Given the description of an element on the screen output the (x, y) to click on. 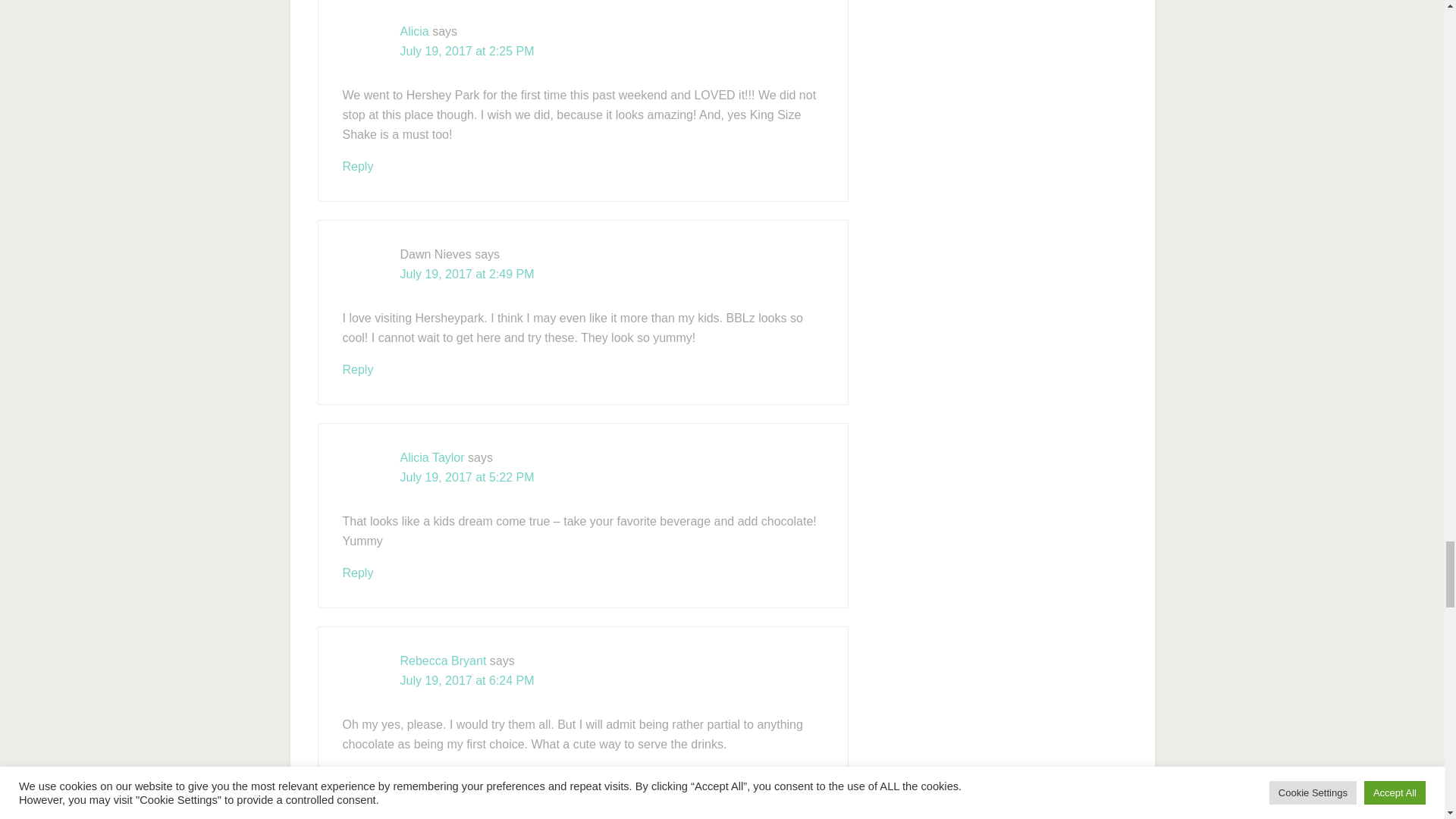
July 19, 2017 at 2:49 PM (467, 273)
Reply (358, 165)
Alicia (414, 31)
July 19, 2017 at 2:25 PM (467, 51)
